Given the description of an element on the screen output the (x, y) to click on. 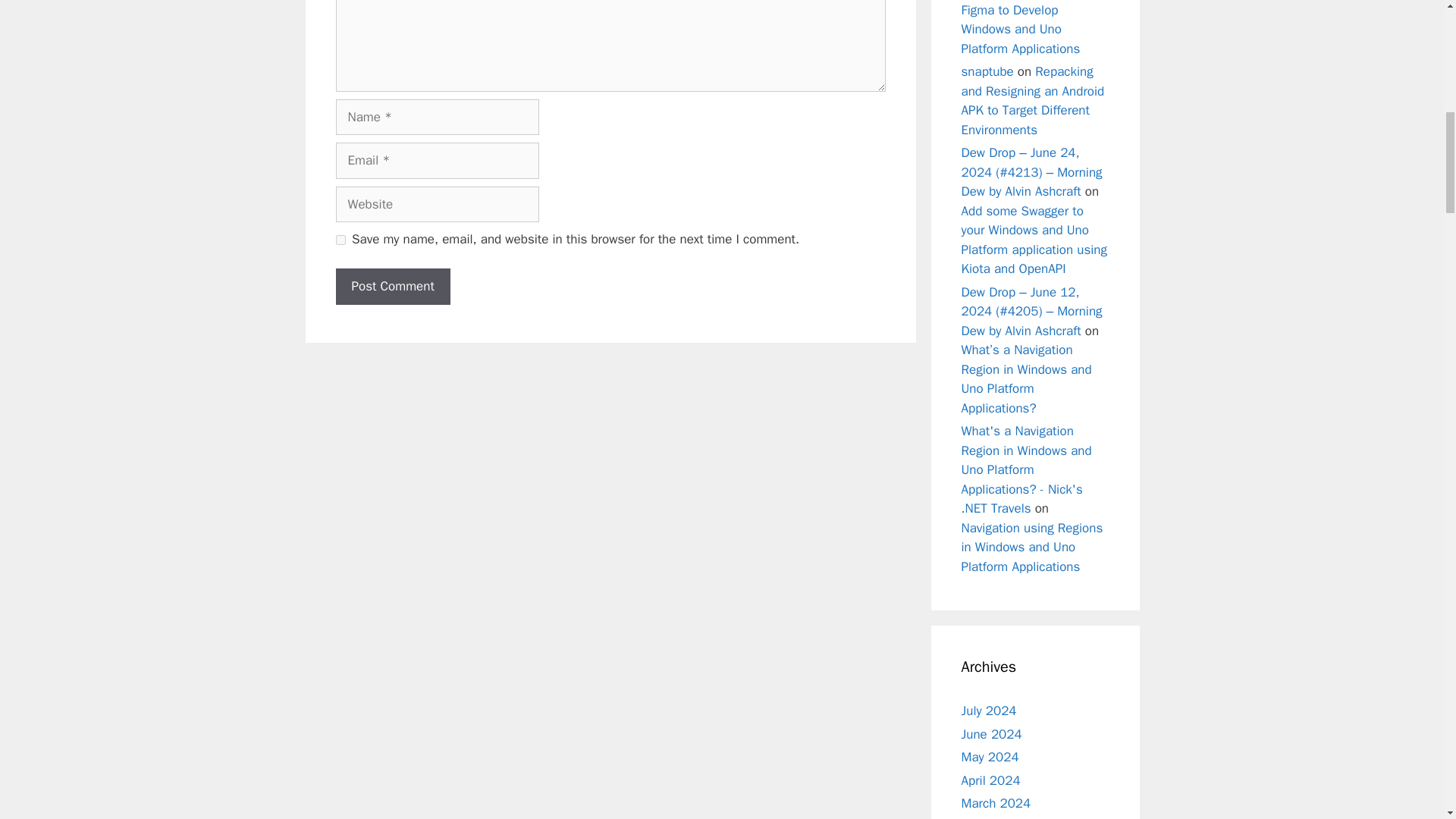
June 2024 (991, 734)
Post Comment (391, 286)
Using Figma to Develop Windows and Uno Platform Applications (1033, 28)
May 2024 (989, 756)
April 2024 (990, 779)
July 2024 (988, 710)
March 2024 (995, 803)
snaptube (986, 71)
yes (339, 239)
Post Comment (391, 286)
